Given the description of an element on the screen output the (x, y) to click on. 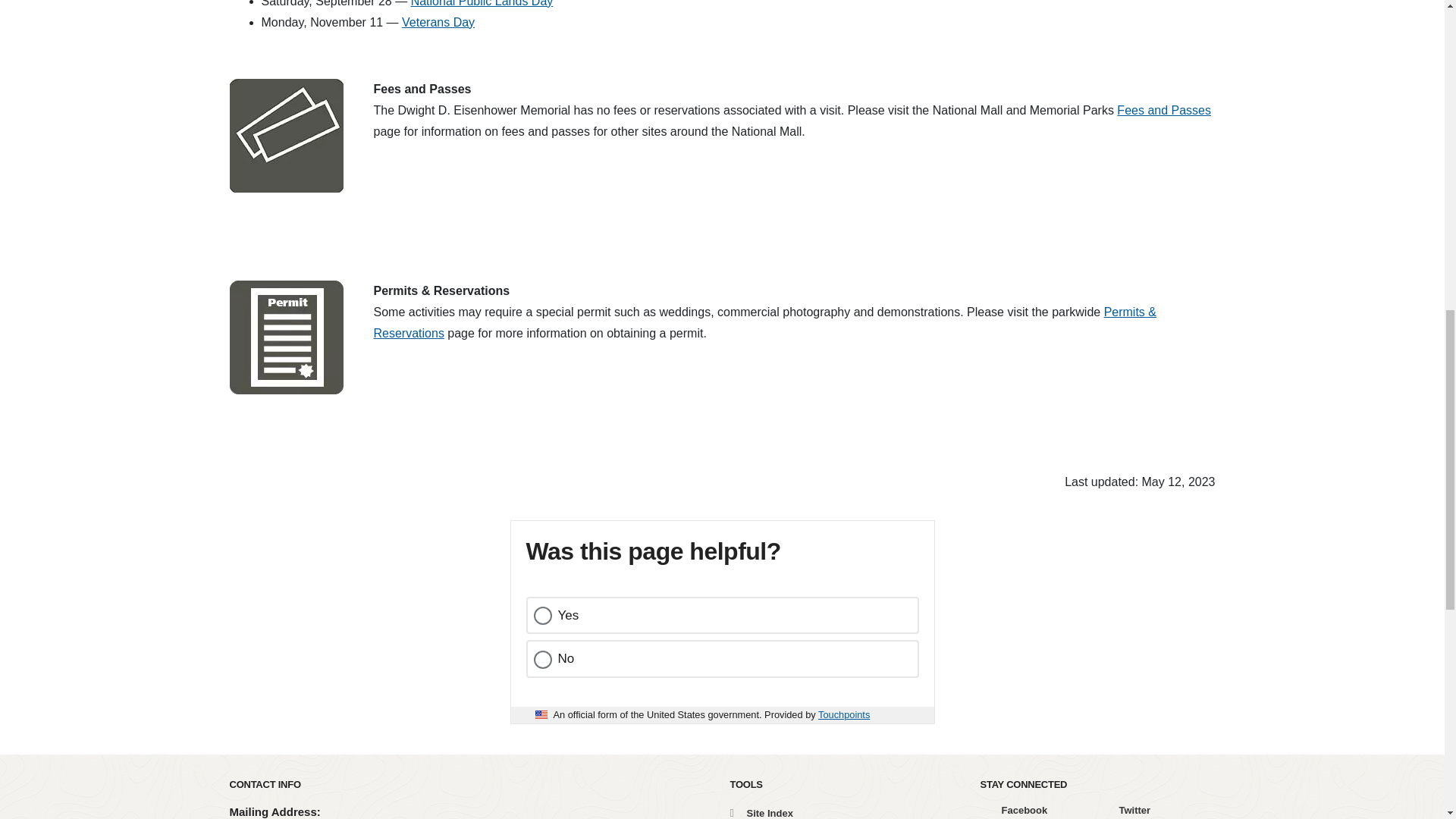
Permit Icon (285, 336)
Ticket or Pass Icon (285, 135)
